Given the description of an element on the screen output the (x, y) to click on. 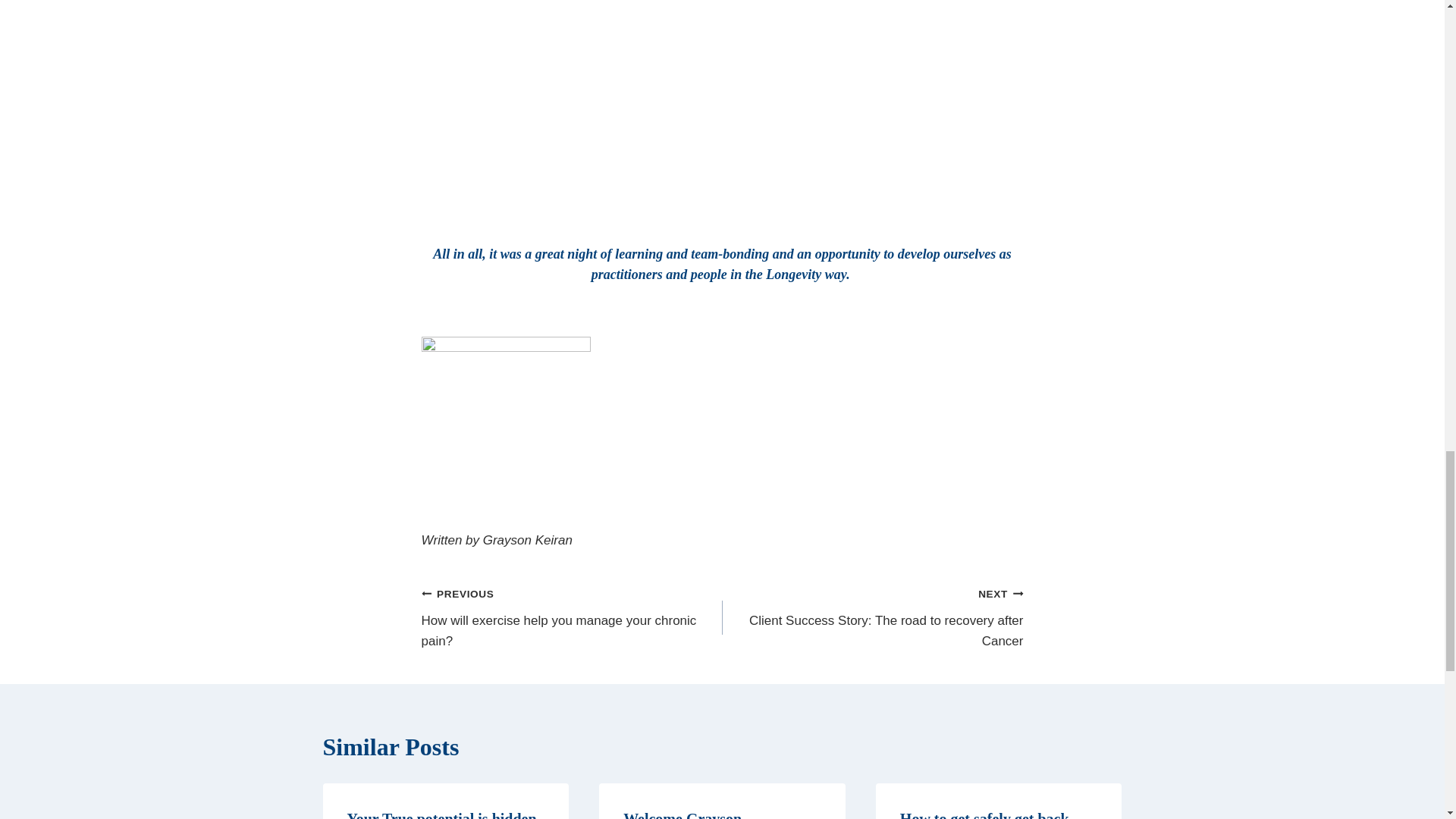
Your True potential is hidden deep within. Good (442, 814)
How to get safely get back into exercise after a break (872, 617)
